Given the description of an element on the screen output the (x, y) to click on. 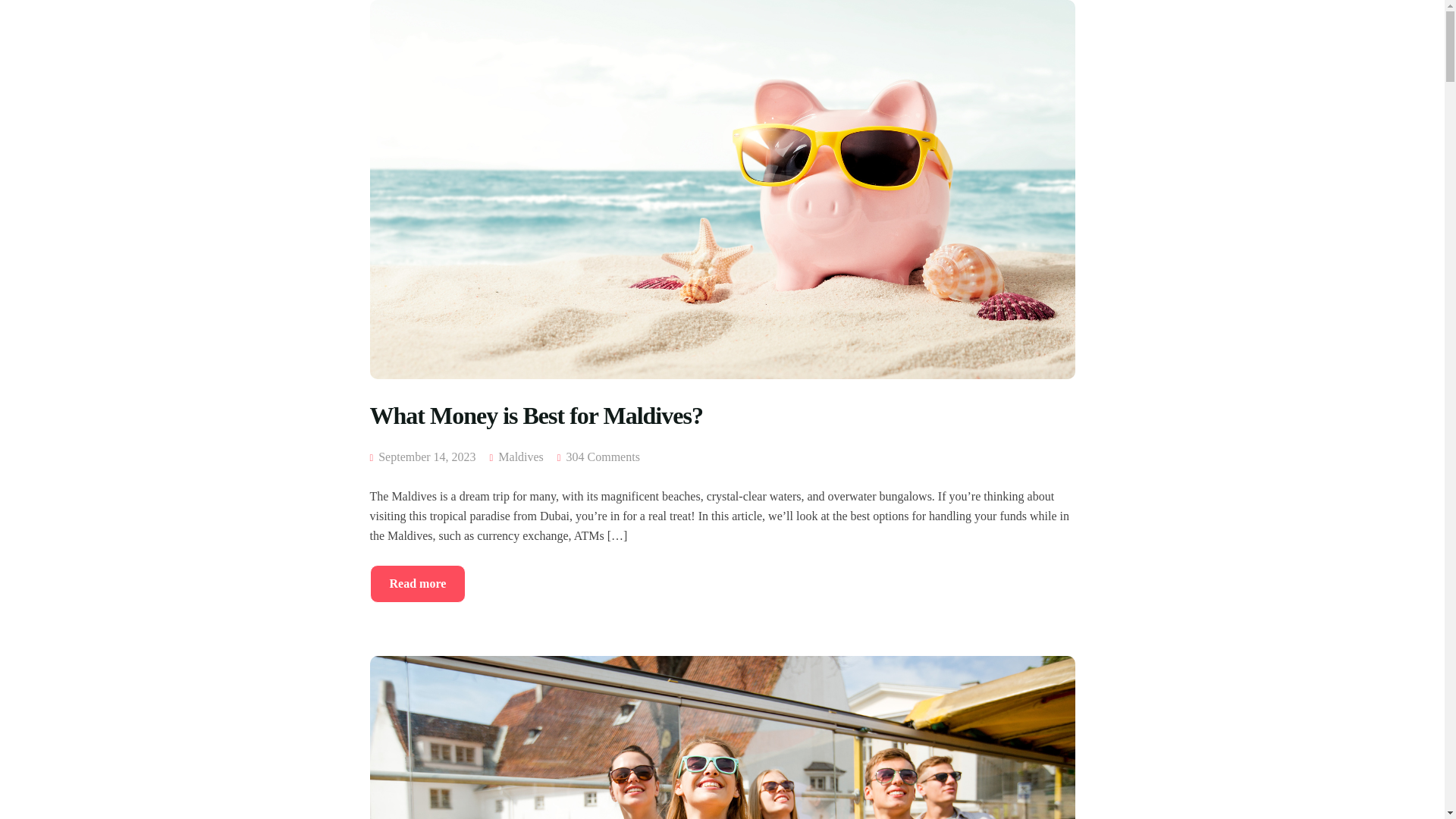
What Money is Best for Maldives? (722, 431)
What Money is Best for Maldives? (722, 431)
Read more (417, 583)
Maldives (520, 456)
304 Comments (603, 456)
